Given the description of an element on the screen output the (x, y) to click on. 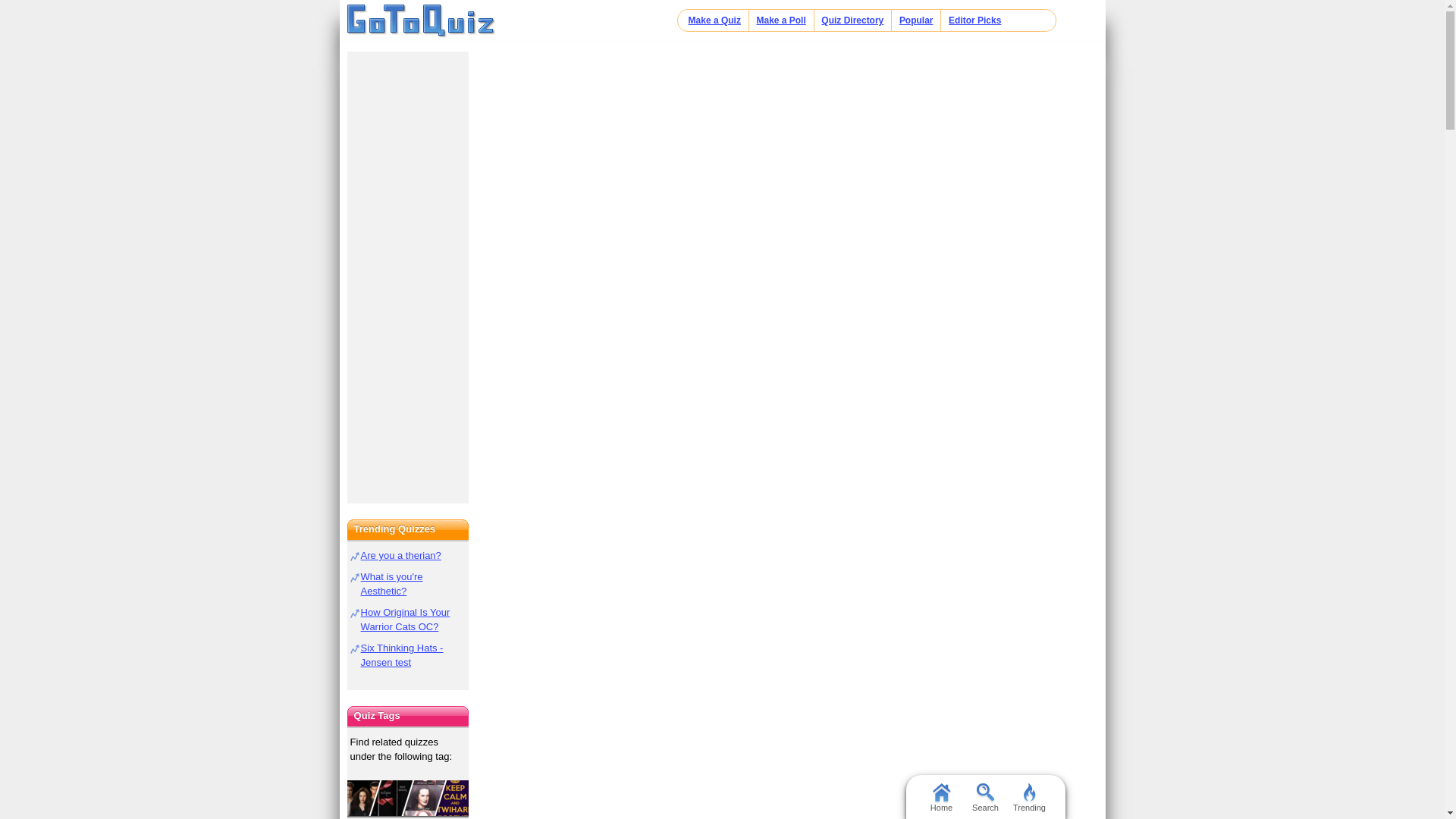
Home (940, 796)
Trending (1029, 796)
How Original Is Your Warrior Cats OC? (405, 619)
Make a Quiz (714, 20)
Home (421, 20)
Popular (916, 20)
Search (984, 796)
Make a Poll (780, 20)
What is you're Aesthetic? (392, 583)
Six Thinking Hats - Jensen test (402, 655)
Quiz Directory (852, 20)
Are you a therian? (401, 555)
Twilight (407, 799)
Editor Picks (975, 20)
